Given the description of an element on the screen output the (x, y) to click on. 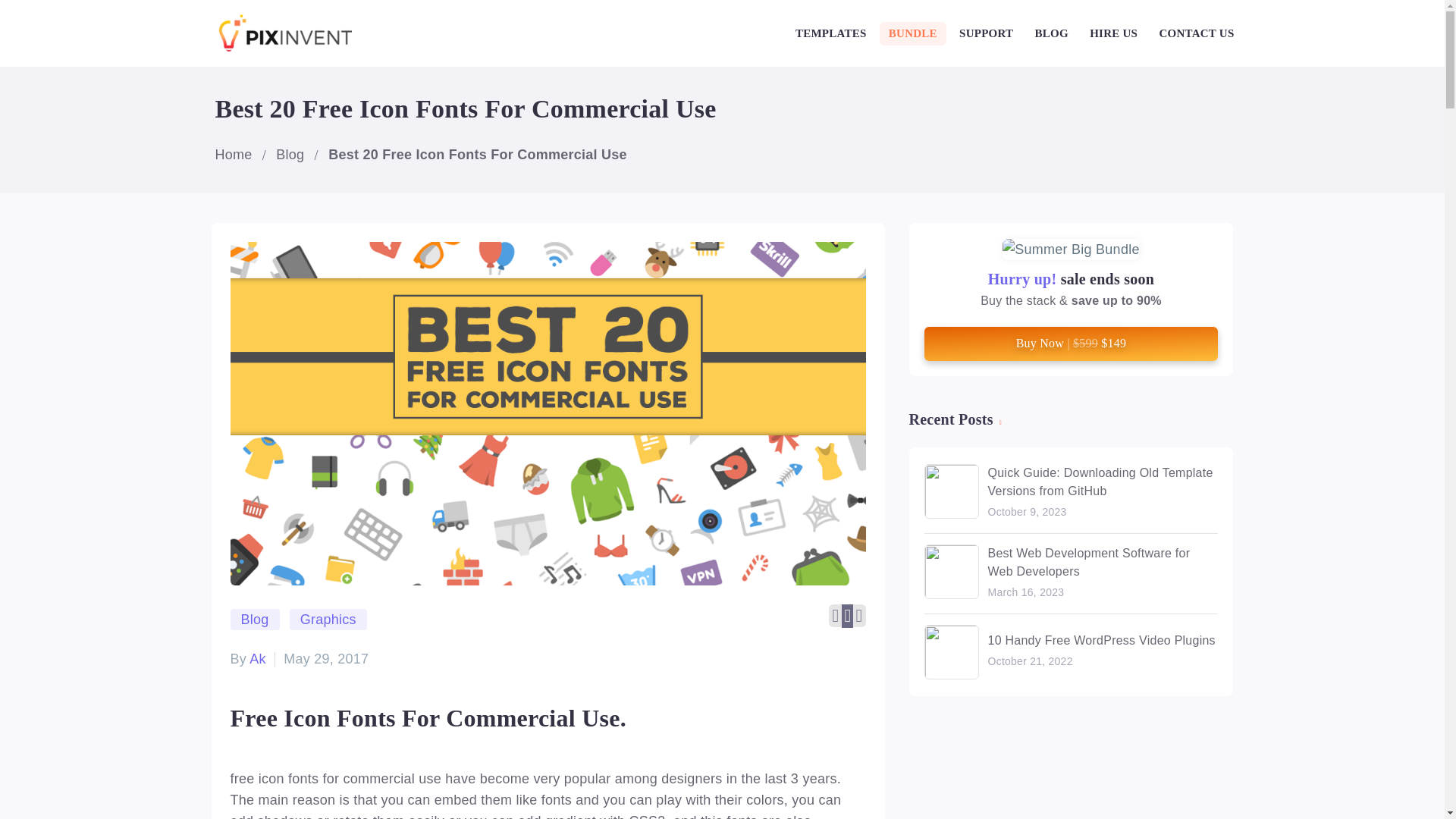
TEMPLATES (831, 33)
BUNDLE (912, 33)
View all posts in Graphics (327, 619)
Ak (257, 658)
CONTACT US (1195, 33)
BLOG (1051, 33)
Blog (254, 619)
View all posts in Blog (254, 619)
Home (233, 154)
SUPPORT (986, 33)
